Given the description of an element on the screen output the (x, y) to click on. 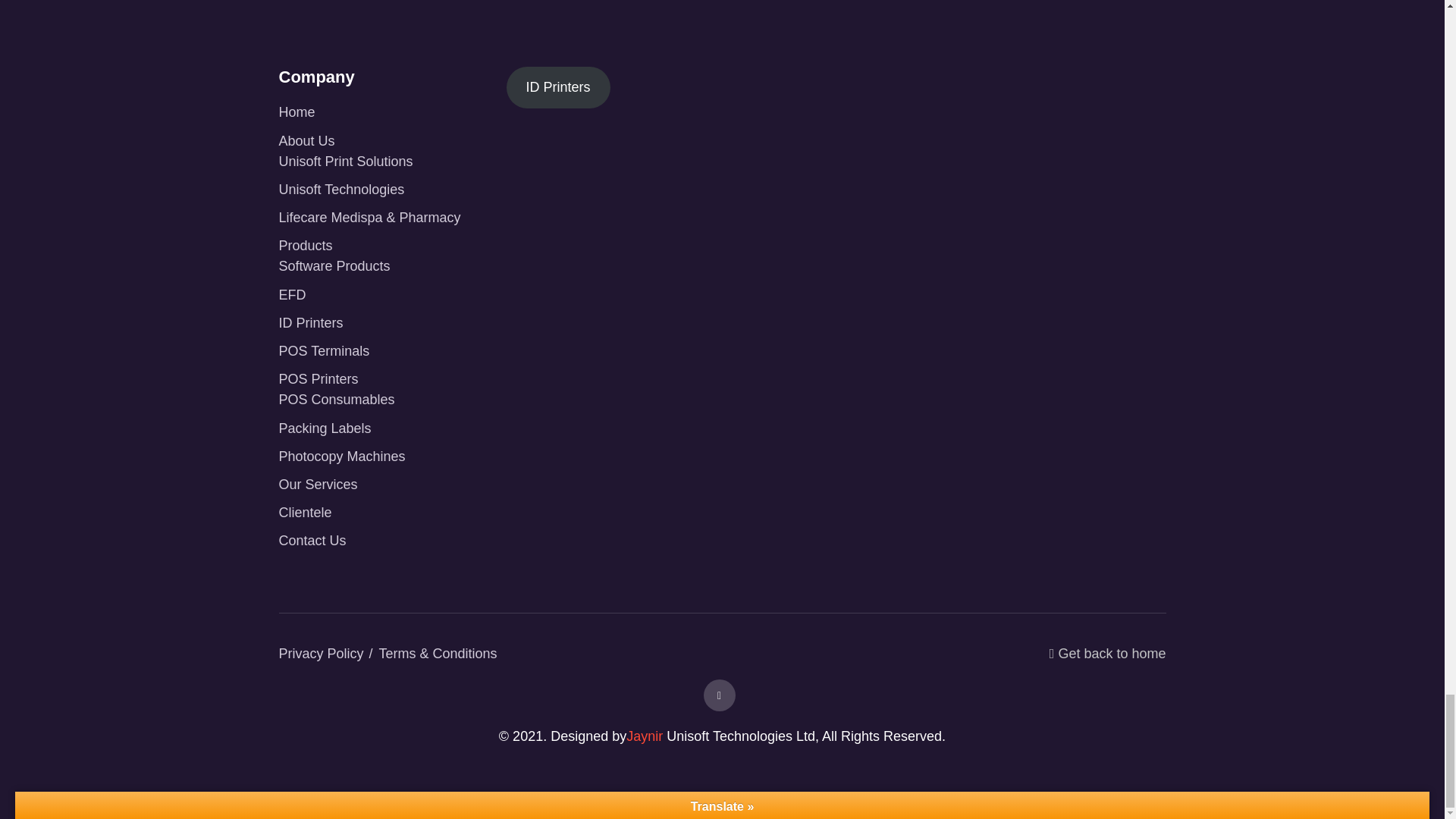
Get back to home (1107, 661)
